Given the description of an element on the screen output the (x, y) to click on. 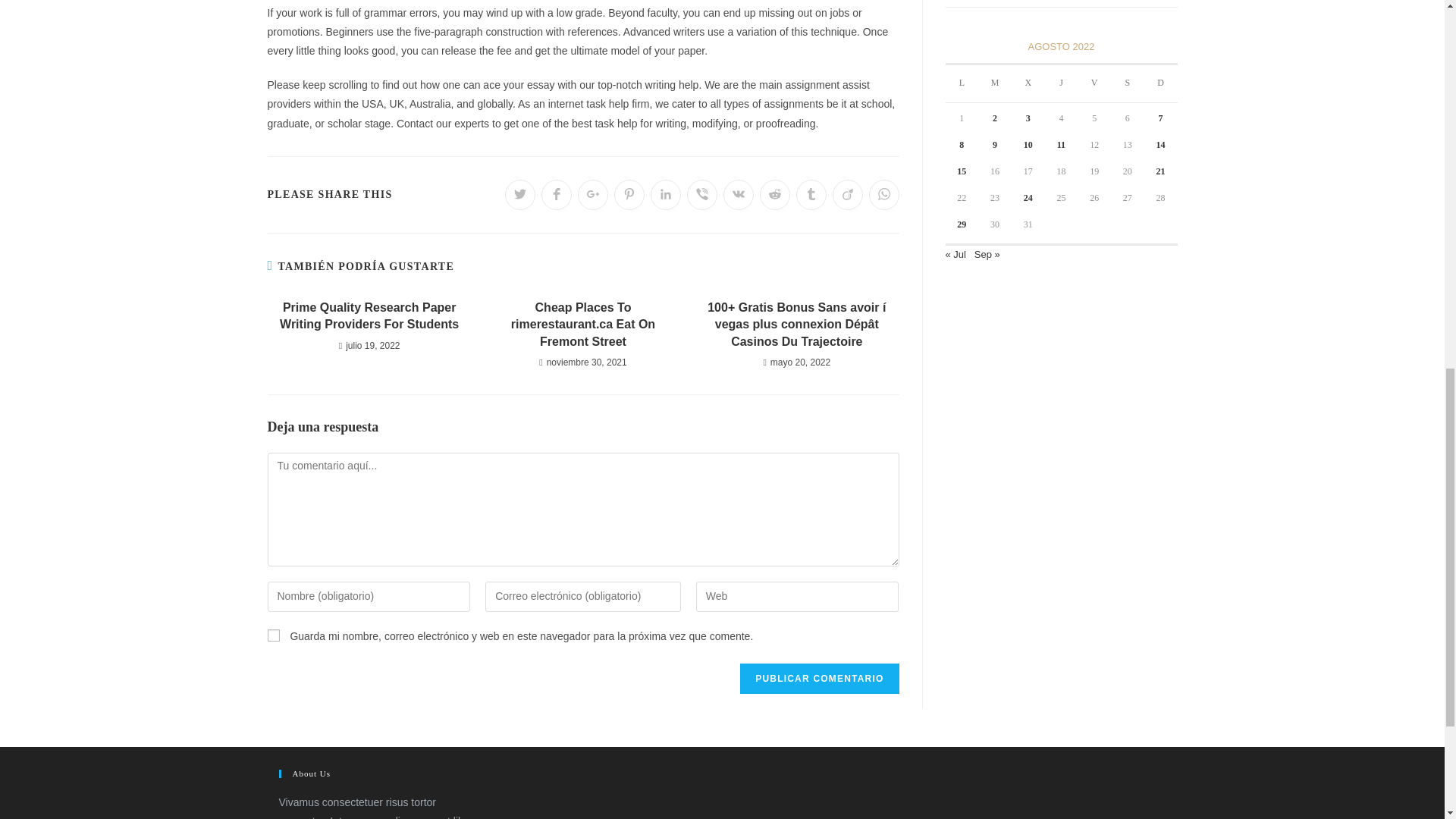
Prime Quality Research Paper Writing Providers For Students (368, 316)
jueves (1061, 83)
Publicar comentario (818, 678)
Se abre en una nueva ventana (629, 194)
Se abre en una nueva ventana (556, 194)
lunes (961, 83)
Se abre en una nueva ventana (665, 194)
domingo (1160, 83)
Cheap Places To rimerestaurant.ca Eat On Fremont Street (582, 324)
Se abre en una nueva ventana (520, 194)
Se abre en una nueva ventana (702, 194)
martes (994, 83)
Se abre en una nueva ventana (738, 194)
Se abre en una nueva ventana (593, 194)
viernes (1093, 83)
